Given the description of an element on the screen output the (x, y) to click on. 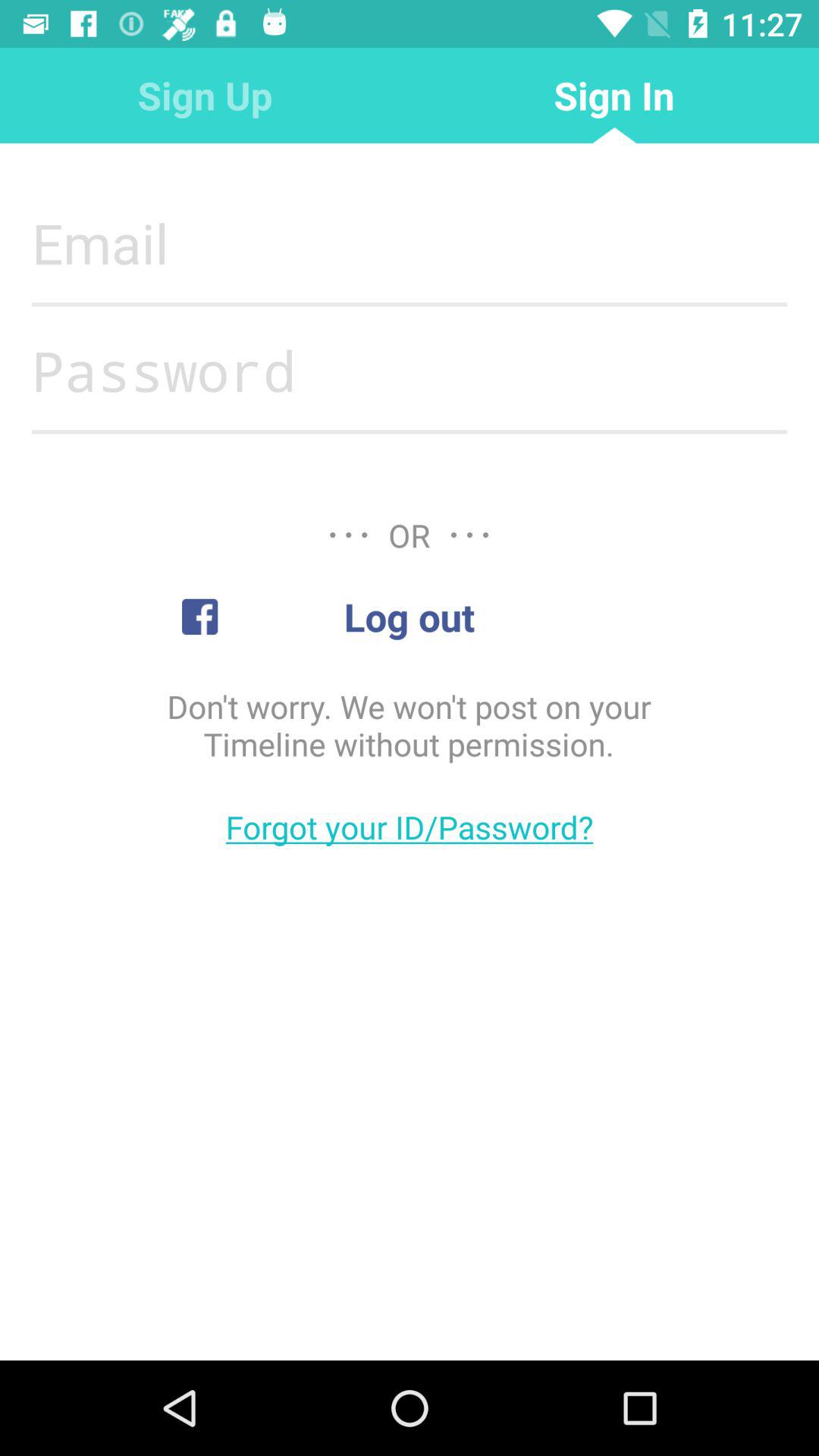
select the last text of the page from bottom (409, 826)
click on the email field below sign up (409, 242)
click on log out (409, 616)
